Given the description of an element on the screen output the (x, y) to click on. 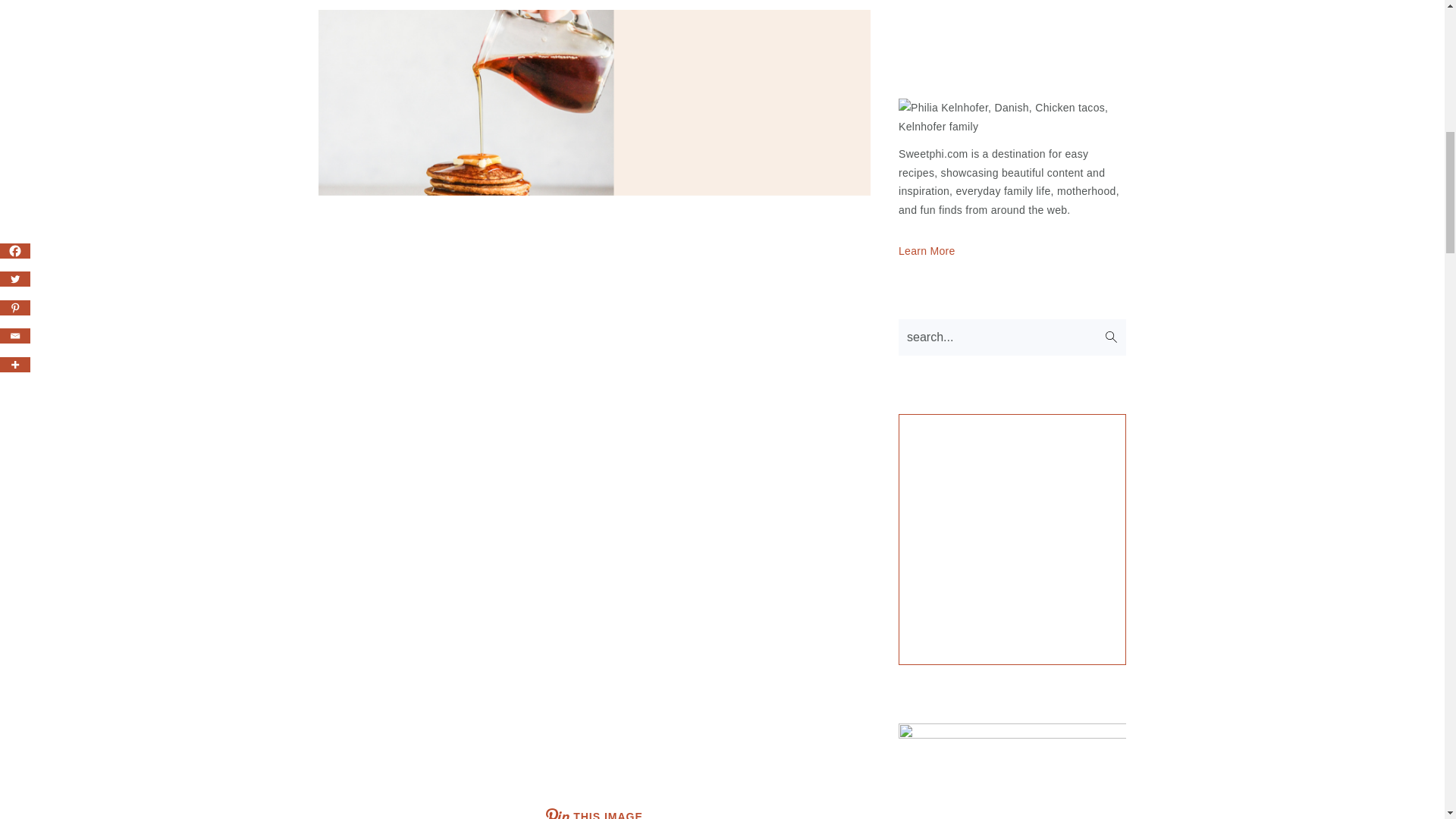
THIS IMAGE (594, 806)
